Given the description of an element on the screen output the (x, y) to click on. 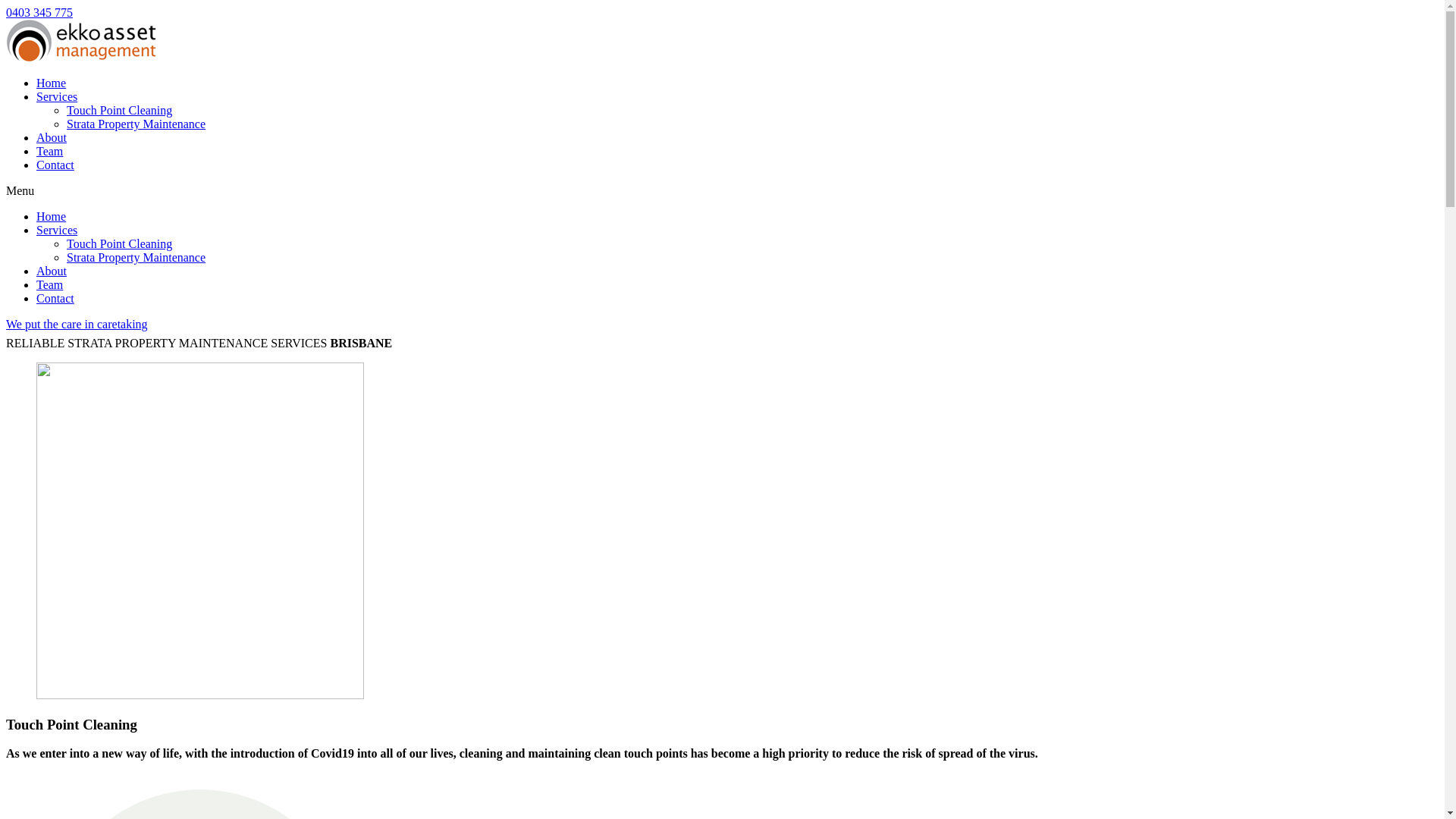
Touch Point Cleaning Element type: text (119, 243)
About Element type: text (51, 137)
Home Element type: text (50, 82)
Home Element type: text (50, 216)
Team Element type: text (49, 150)
We put the care in caretaking Element type: text (722, 324)
Strata Property Maintenance Element type: text (135, 257)
Services Element type: text (56, 96)
Services Element type: text (56, 229)
Contact Element type: text (55, 297)
0403 345 775 Element type: text (39, 12)
Strata Property Maintenance Element type: text (135, 123)
Touch Point Cleaning Element type: text (119, 109)
Contact Element type: text (55, 164)
About Element type: text (51, 270)
Team Element type: text (49, 284)
